Given the description of an element on the screen output the (x, y) to click on. 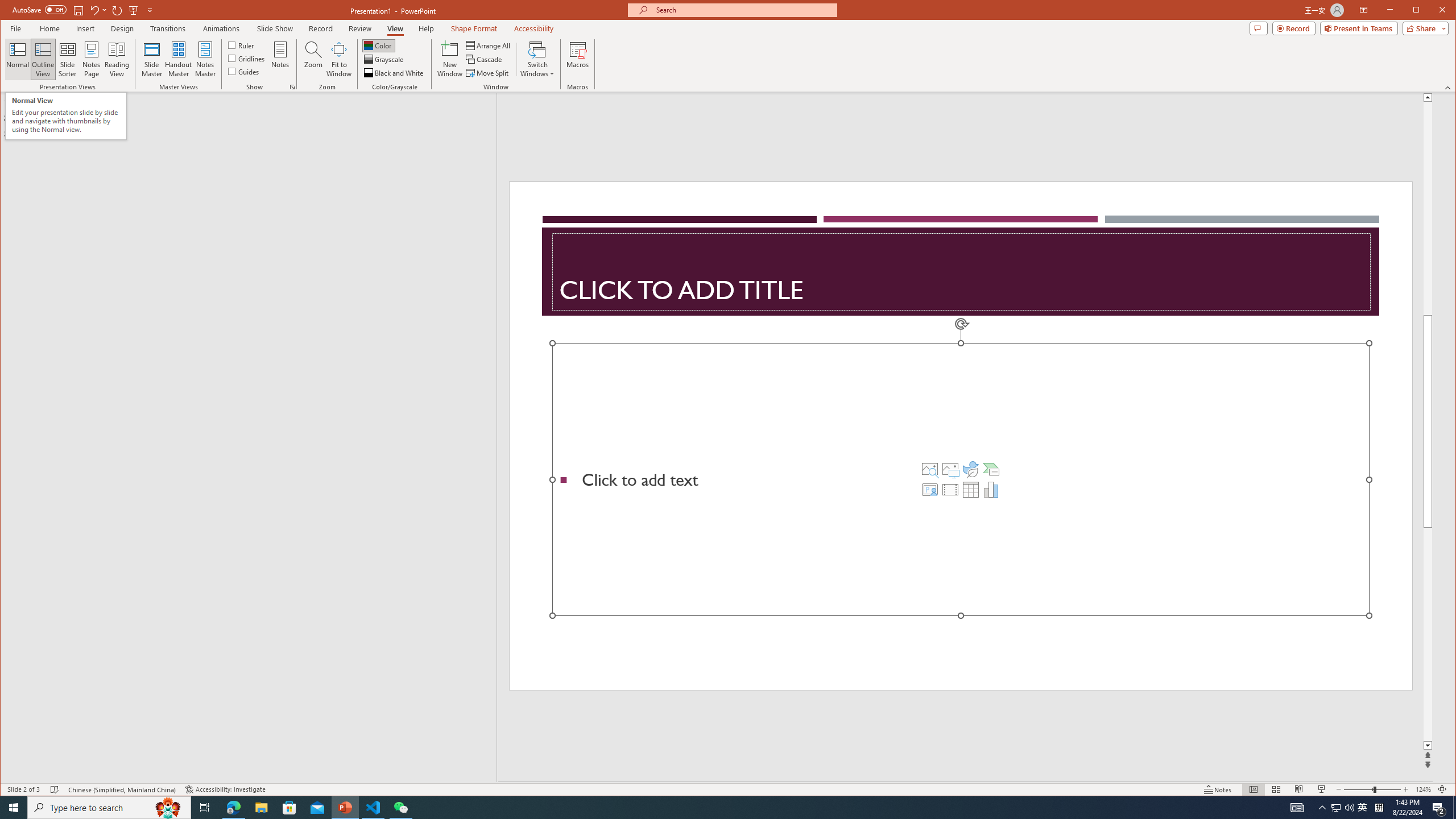
Fit to Window (338, 59)
Handout Master (178, 59)
Grid Settings... (292, 86)
Macros (576, 59)
